Given the description of an element on the screen output the (x, y) to click on. 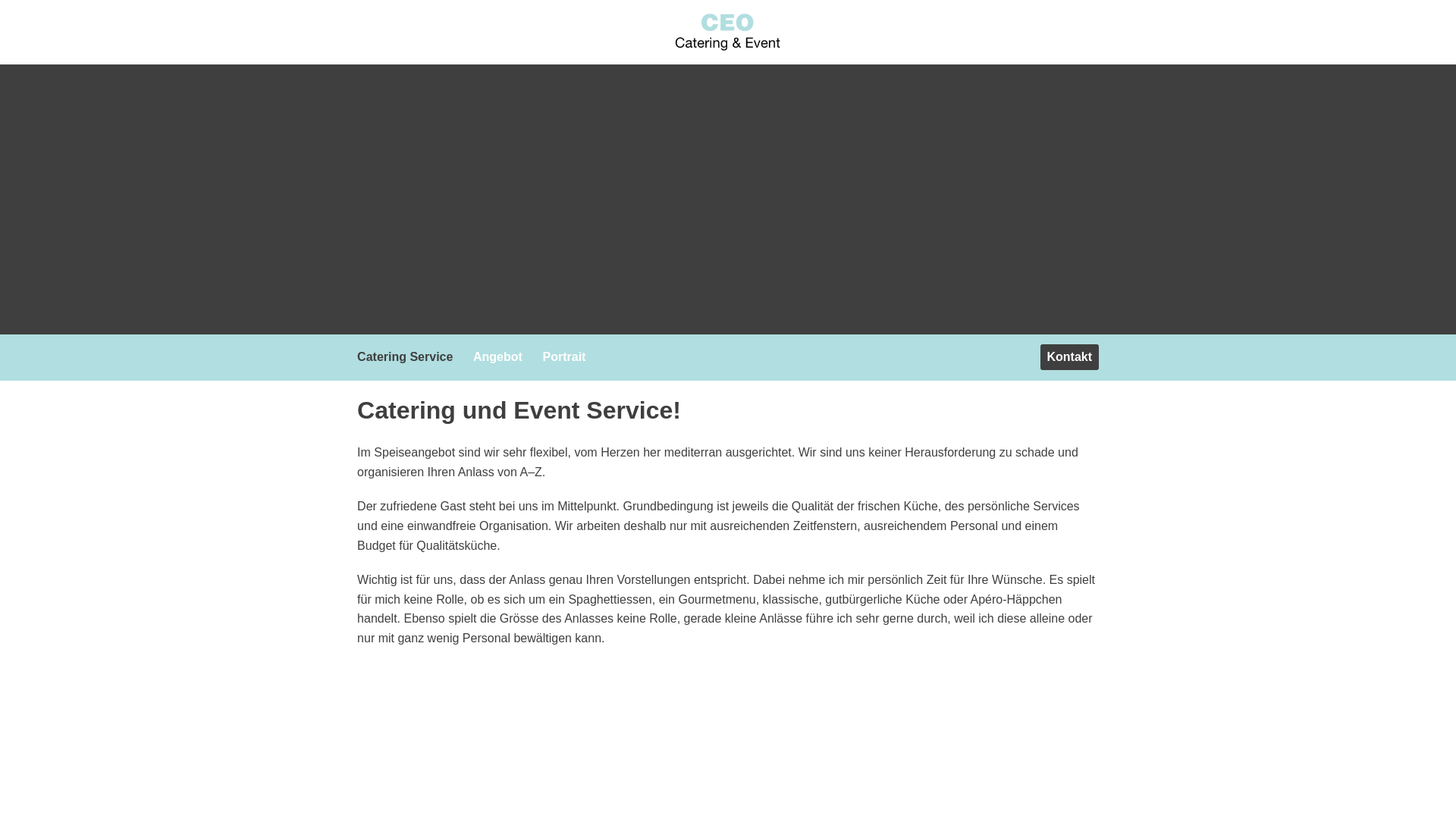
Angebot Element type: text (501, 356)
Catering Service Element type: text (408, 356)
Startseite Element type: hover (727, 31)
Portrait Element type: text (567, 356)
Kontakt Element type: text (1069, 357)
